Given the description of an element on the screen output the (x, y) to click on. 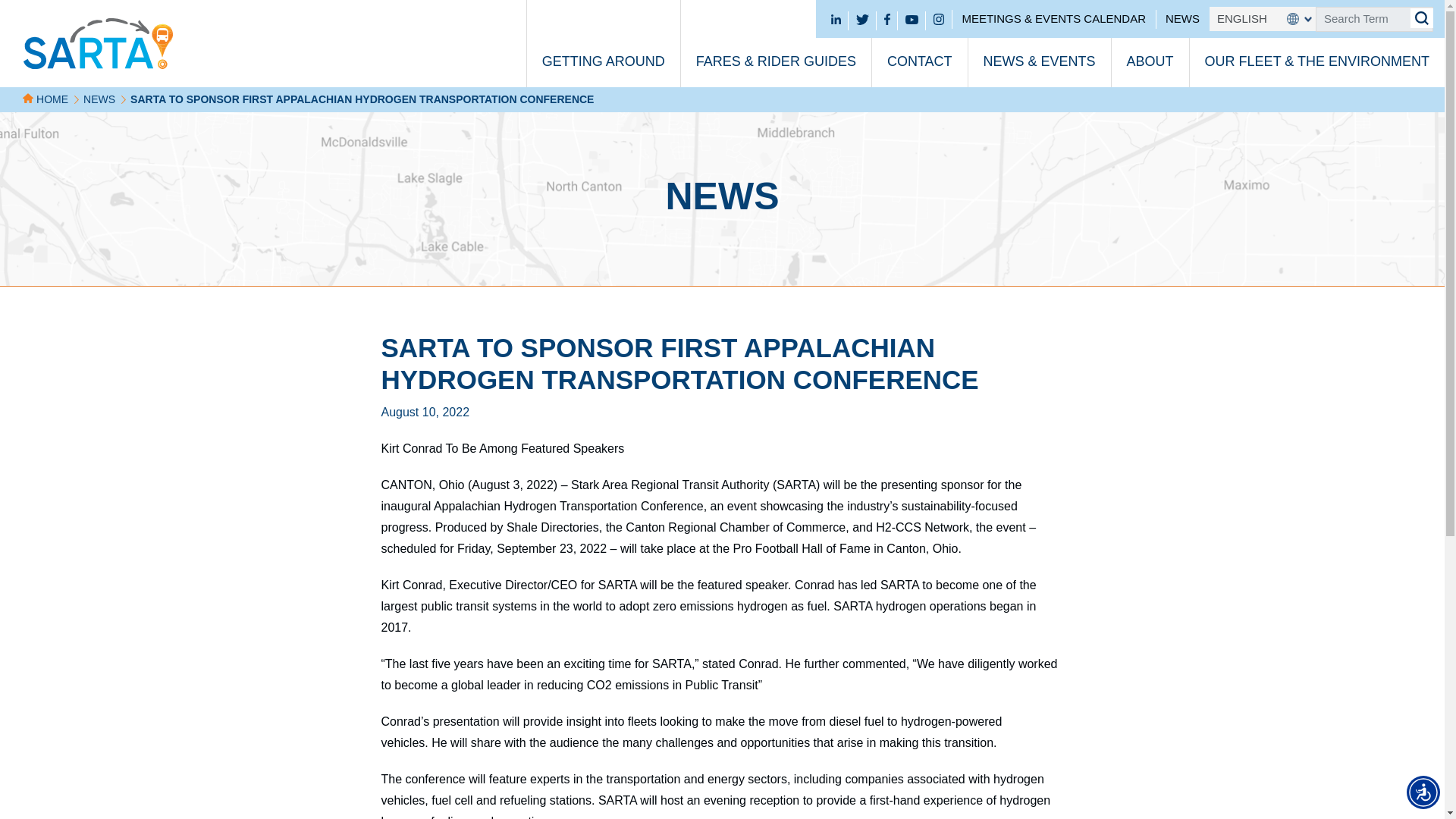
CONTACT (919, 43)
GETTING AROUND (602, 43)
ABOUT (1149, 43)
NEWS (1182, 18)
Accessibility Menu (1422, 792)
